Given the description of an element on the screen output the (x, y) to click on. 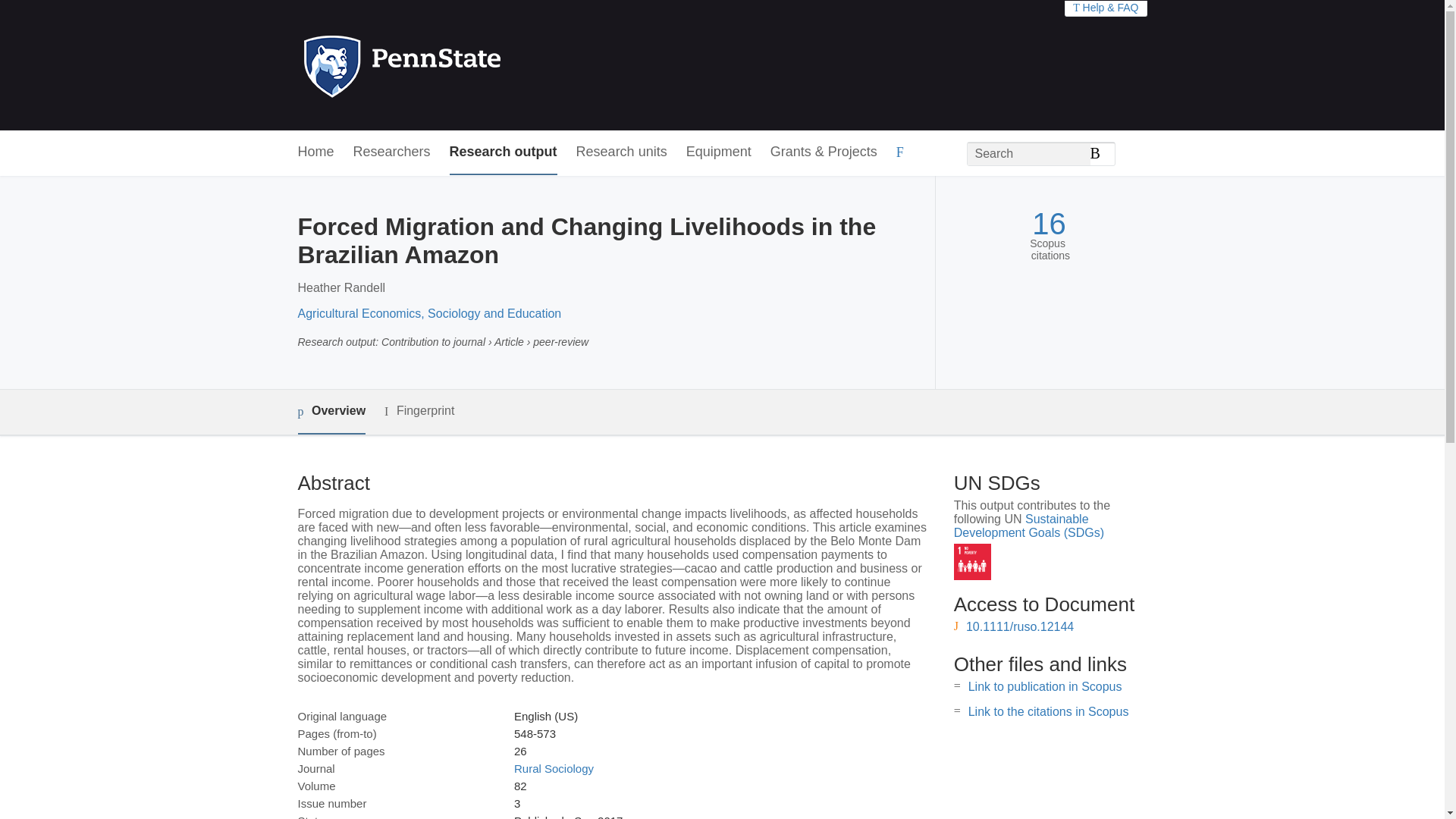
Fingerprint (419, 411)
16 (1048, 223)
Research output (503, 152)
Research units (621, 152)
Researchers (391, 152)
Equipment (718, 152)
Overview (331, 411)
Rural Sociology (553, 768)
Penn State Home (467, 65)
SDG 1 - No Poverty (972, 561)
Agricultural Economics, Sociology and Education (428, 313)
Link to publication in Scopus (1045, 686)
Link to the citations in Scopus (1048, 711)
